Given the description of an element on the screen output the (x, y) to click on. 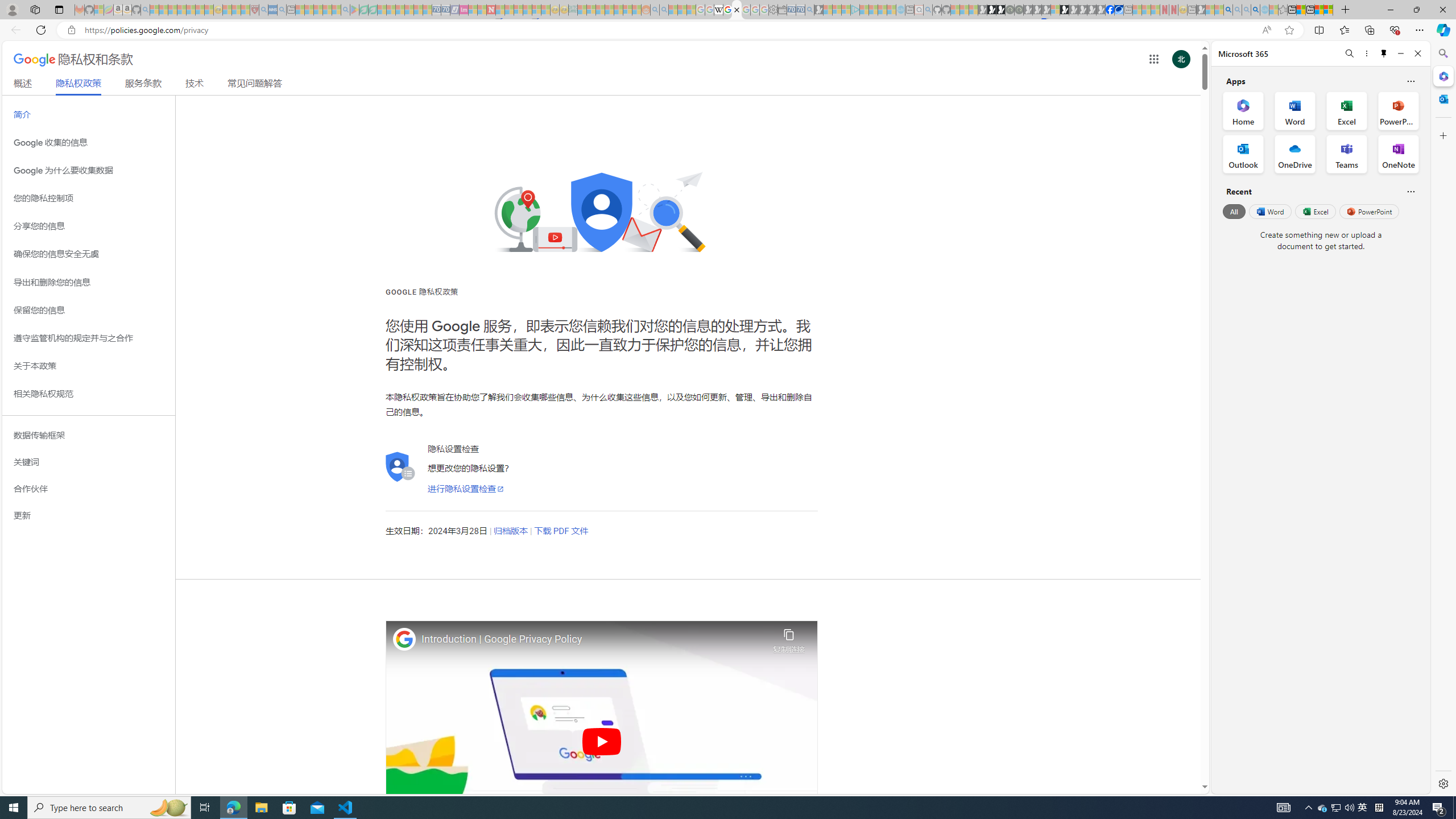
AirNow.gov (1118, 9)
Sign in to your account - Sleeping (1054, 9)
